Given the description of an element on the screen output the (x, y) to click on. 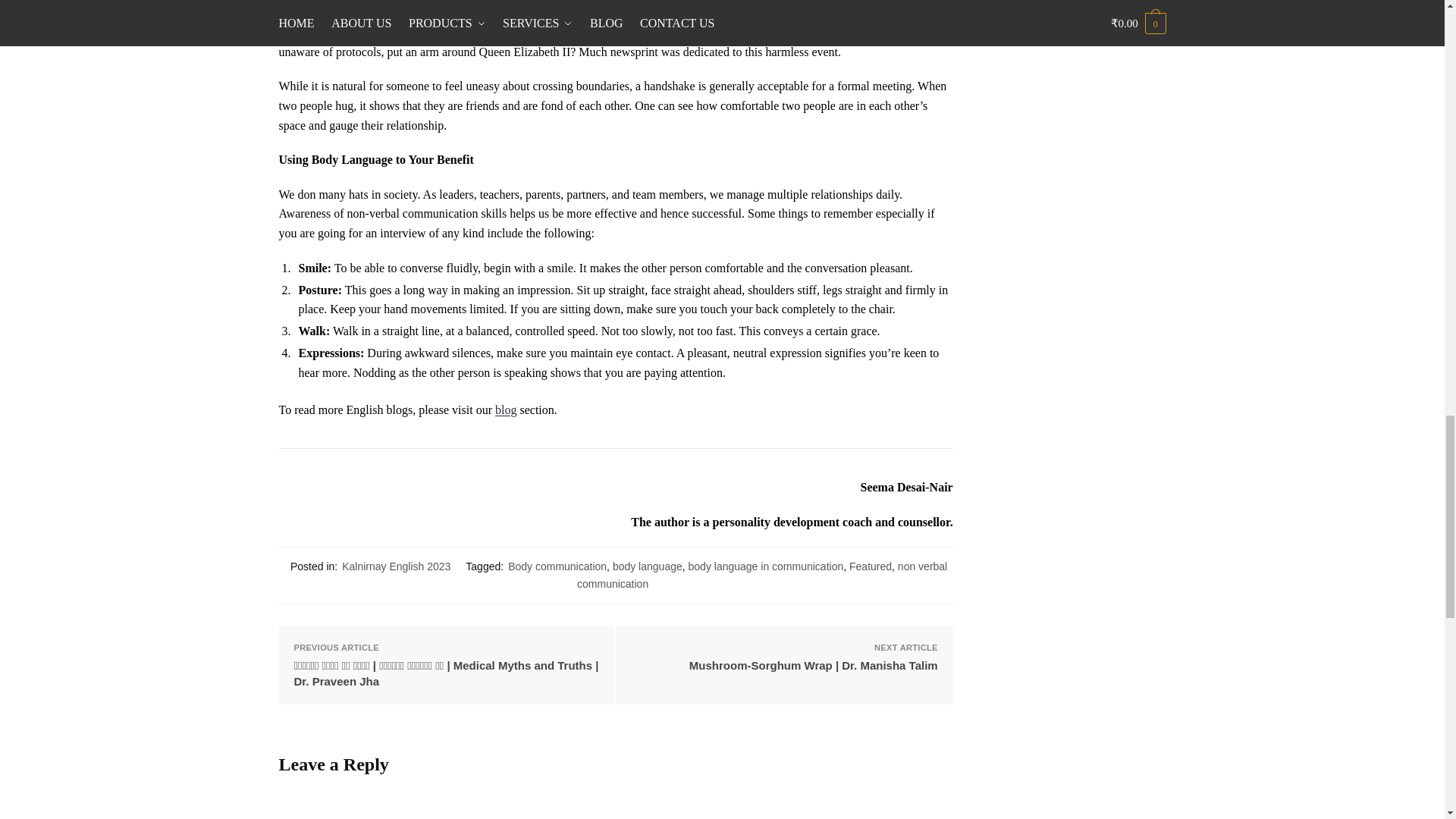
Comment Form (616, 803)
